Given the description of an element on the screen output the (x, y) to click on. 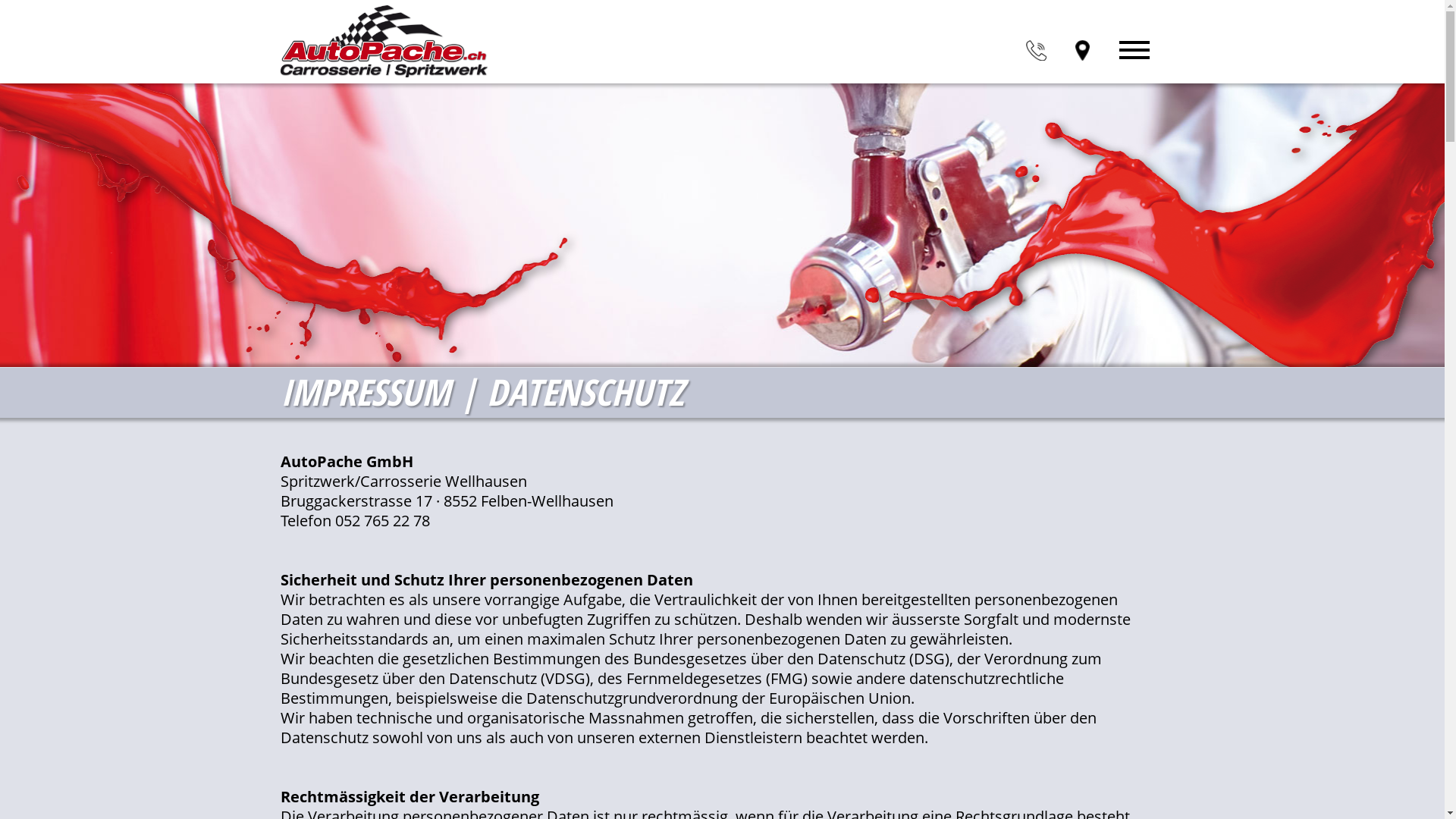
Telefon 052 765 22 78 Element type: text (354, 520)
